Given the description of an element on the screen output the (x, y) to click on. 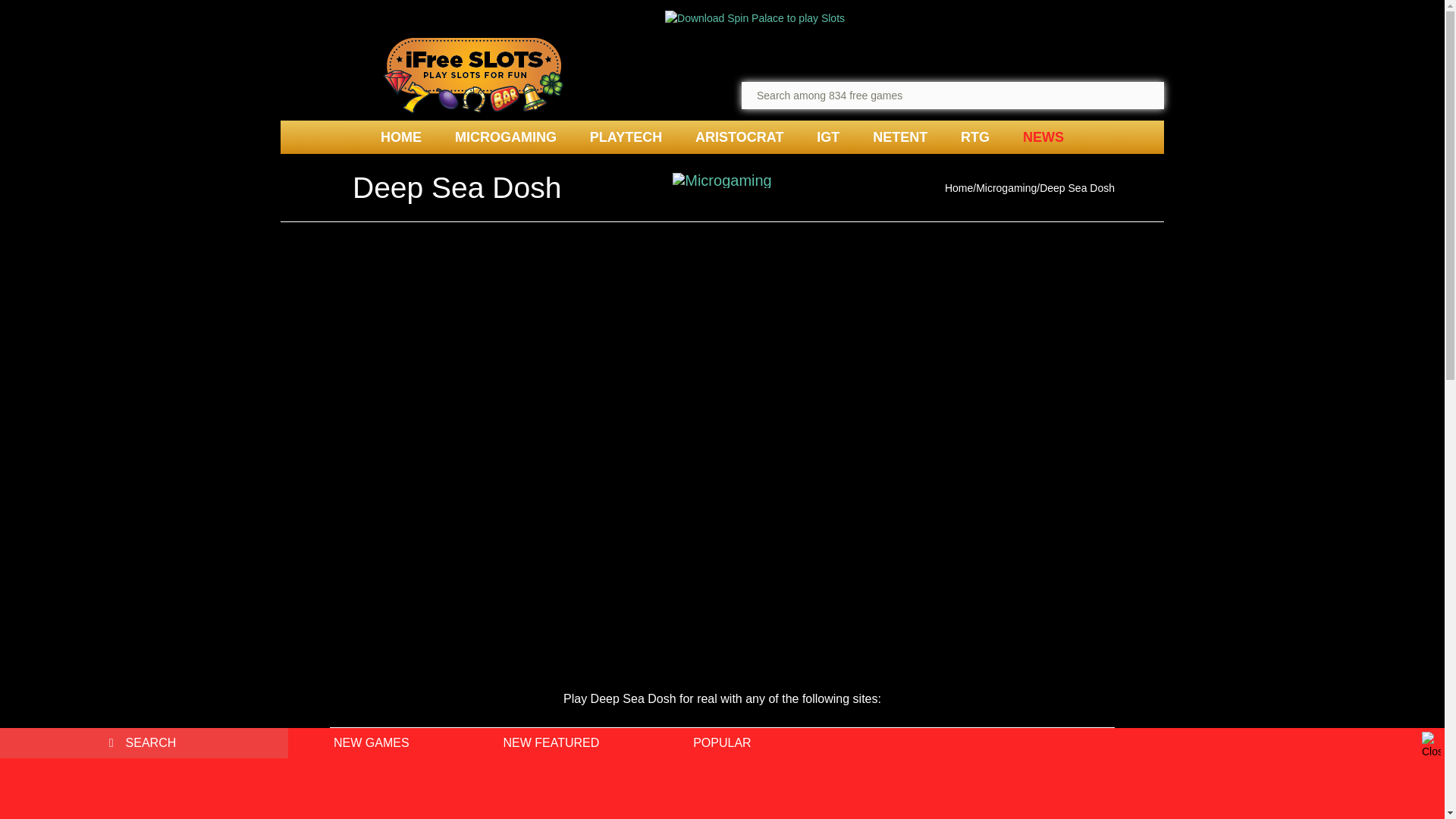
Microgaming (1005, 187)
RTG (974, 136)
NEWS (1042, 136)
ARISTOCRAT (738, 136)
MICROGAMING (505, 136)
iFree Slots (473, 75)
Search for: (144, 743)
Home (958, 187)
Go to the Microgaming category archives. (1005, 187)
Go to Home. (958, 187)
